Given the description of an element on the screen output the (x, y) to click on. 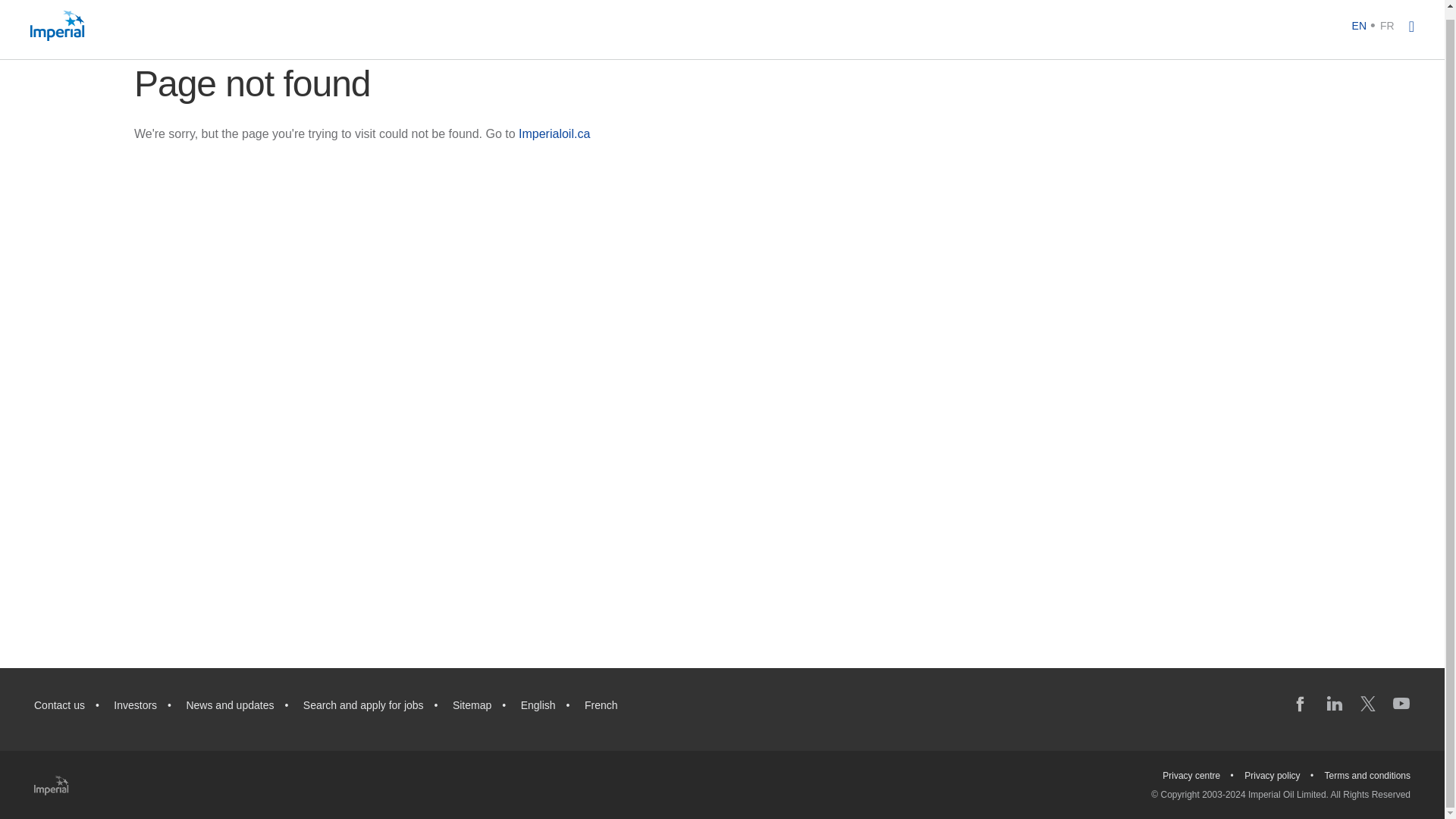
FR (1387, 24)
EN (1359, 24)
Imperialoil.ca (553, 133)
Contact us (58, 705)
English (538, 705)
Investors (135, 705)
News and updates (229, 705)
French (601, 705)
Search and apply for jobs (362, 705)
Sitemap (472, 705)
